Given the description of an element on the screen output the (x, y) to click on. 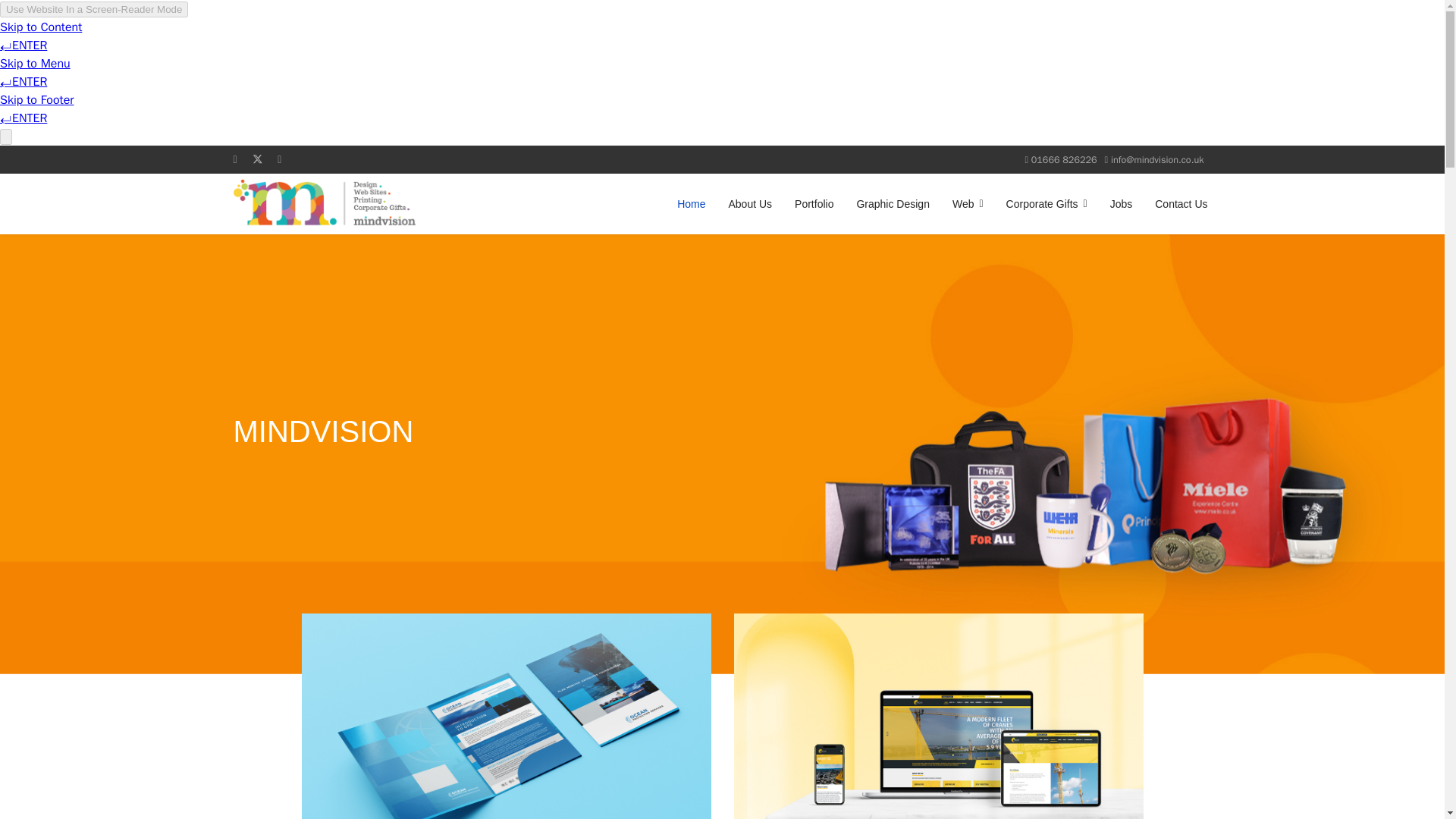
Web (967, 203)
Graphic Design (892, 203)
Corporate Gifts (1046, 203)
About Us (749, 203)
Jobs (1121, 203)
01666 826226 (1063, 159)
Portfolio (813, 203)
Home (690, 203)
Contact Us (1174, 203)
